Given the description of an element on the screen output the (x, y) to click on. 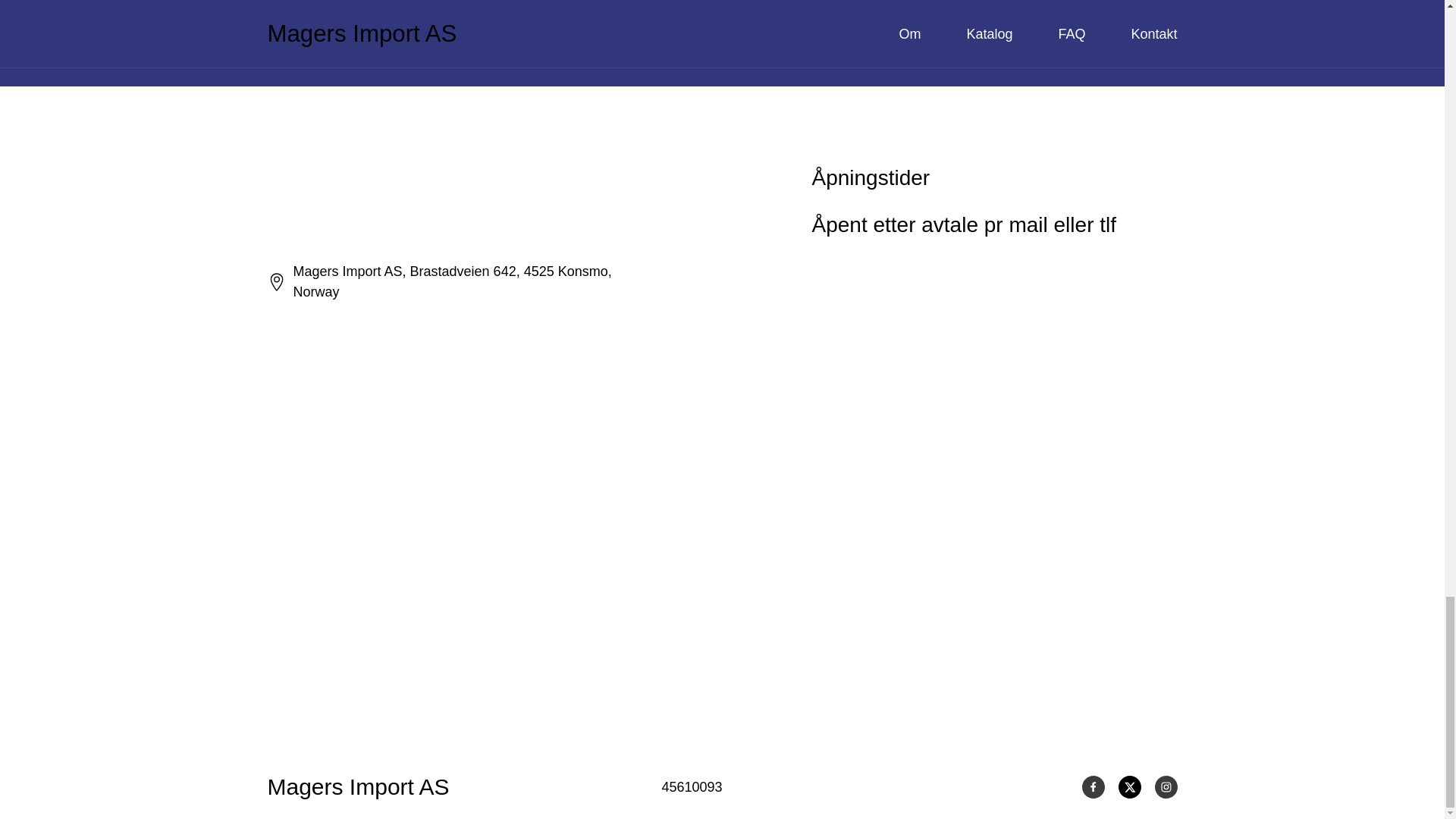
45610093 (691, 786)
Magers Import AS, Brastadveien 642, 4525 Konsmo, Norway (453, 281)
